Given the description of an element on the screen output the (x, y) to click on. 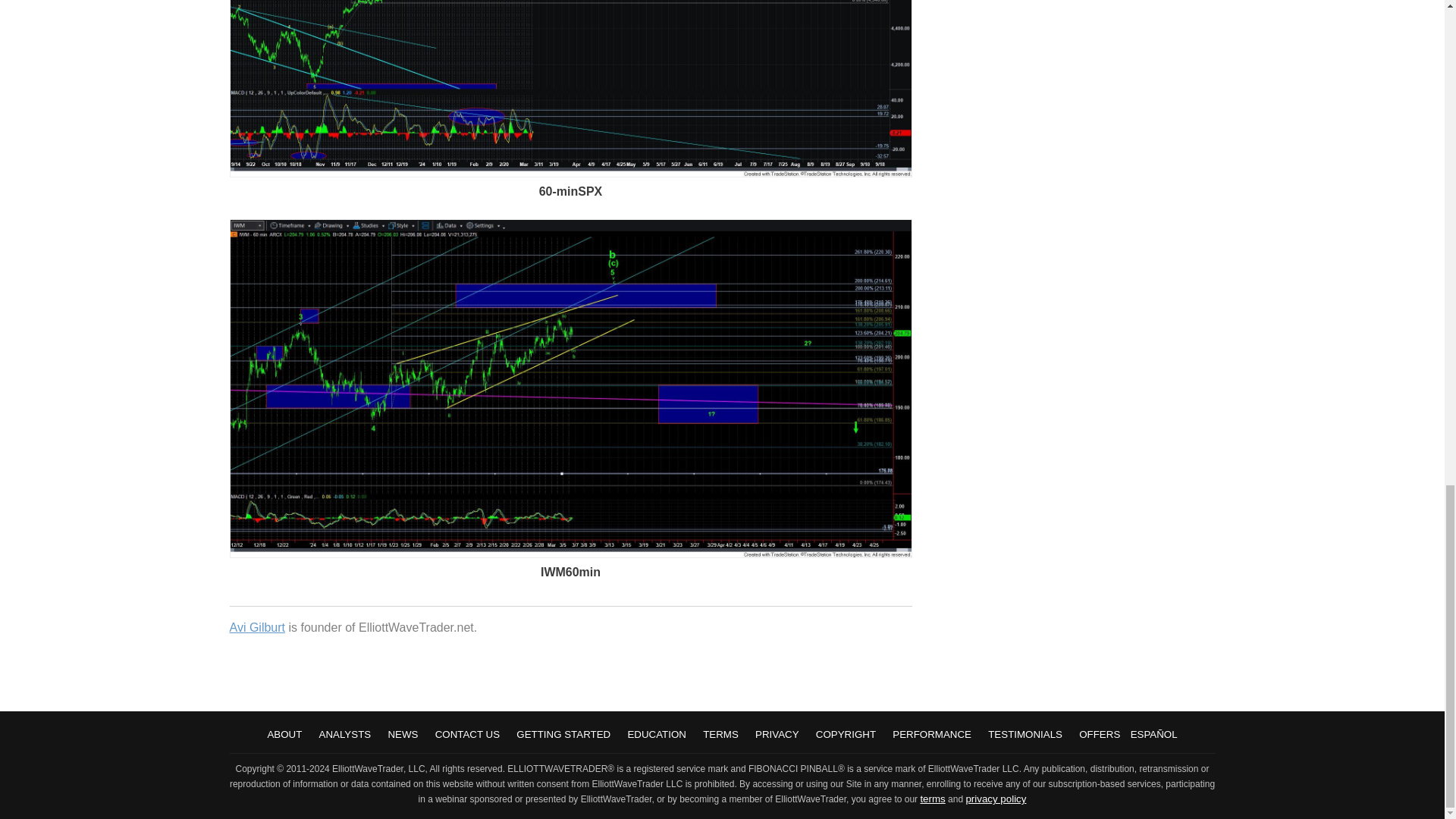
ABOUT (283, 734)
ANALYSTS (344, 734)
NEWS (402, 734)
COPYRIGHT (845, 734)
PRIVACY (777, 734)
PERFORMANCE (931, 734)
TERMS (720, 734)
EDUCATION (656, 734)
Click to Enlarge (569, 173)
OFFERS (1098, 734)
CONTACT US (467, 734)
Click to Enlarge (569, 553)
Avi Gilburt (256, 626)
TESTIMONIALS (1025, 734)
GETTING STARTED (563, 734)
